Given the description of an element on the screen output the (x, y) to click on. 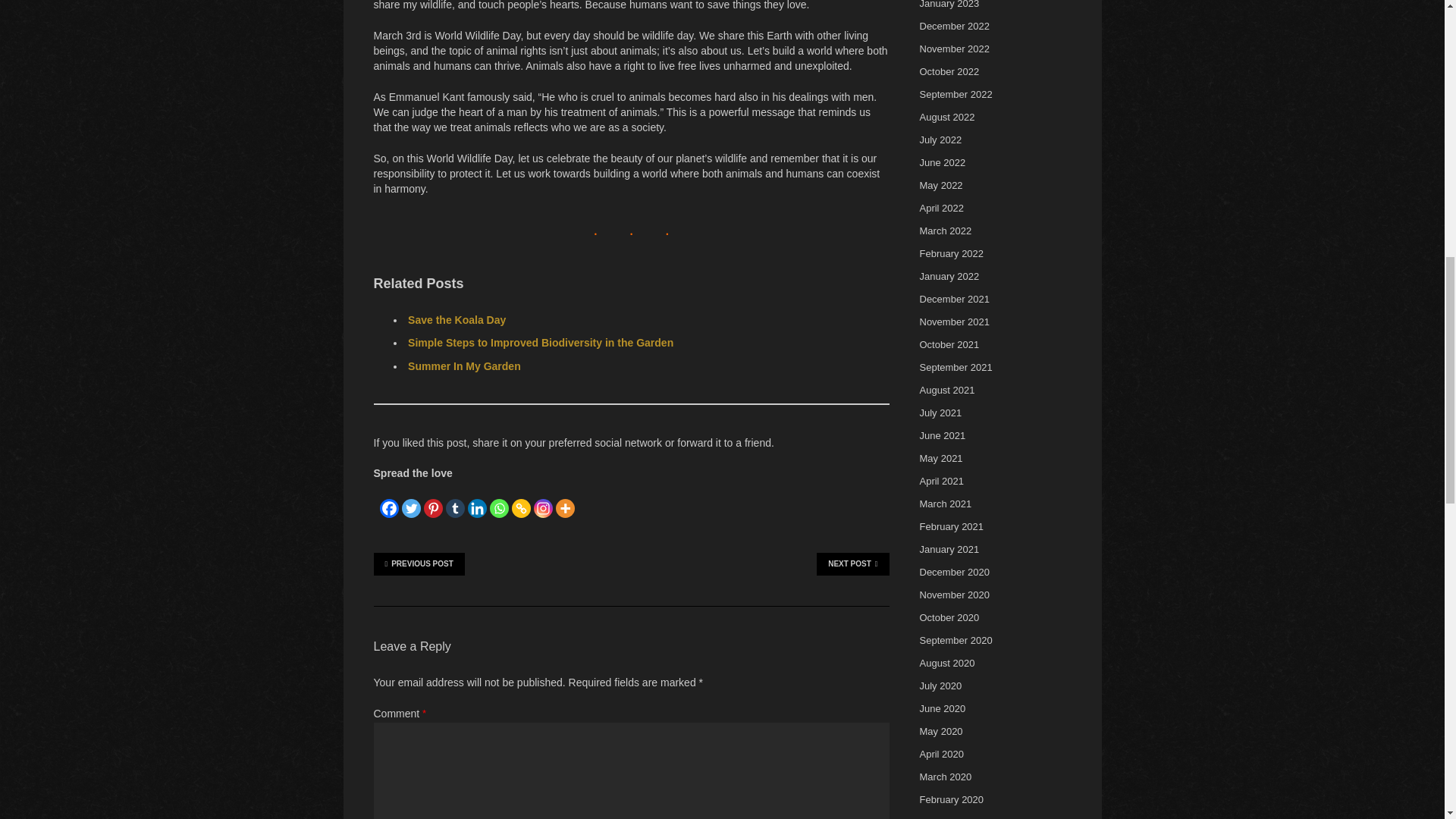
Simple Steps to Improved Biodiversity in the Garden (539, 342)
Save the Koala Day (456, 319)
Summer In My Garden (464, 366)
NEXT POST (852, 563)
PREVIOUS POST (418, 563)
